Given the description of an element on the screen output the (x, y) to click on. 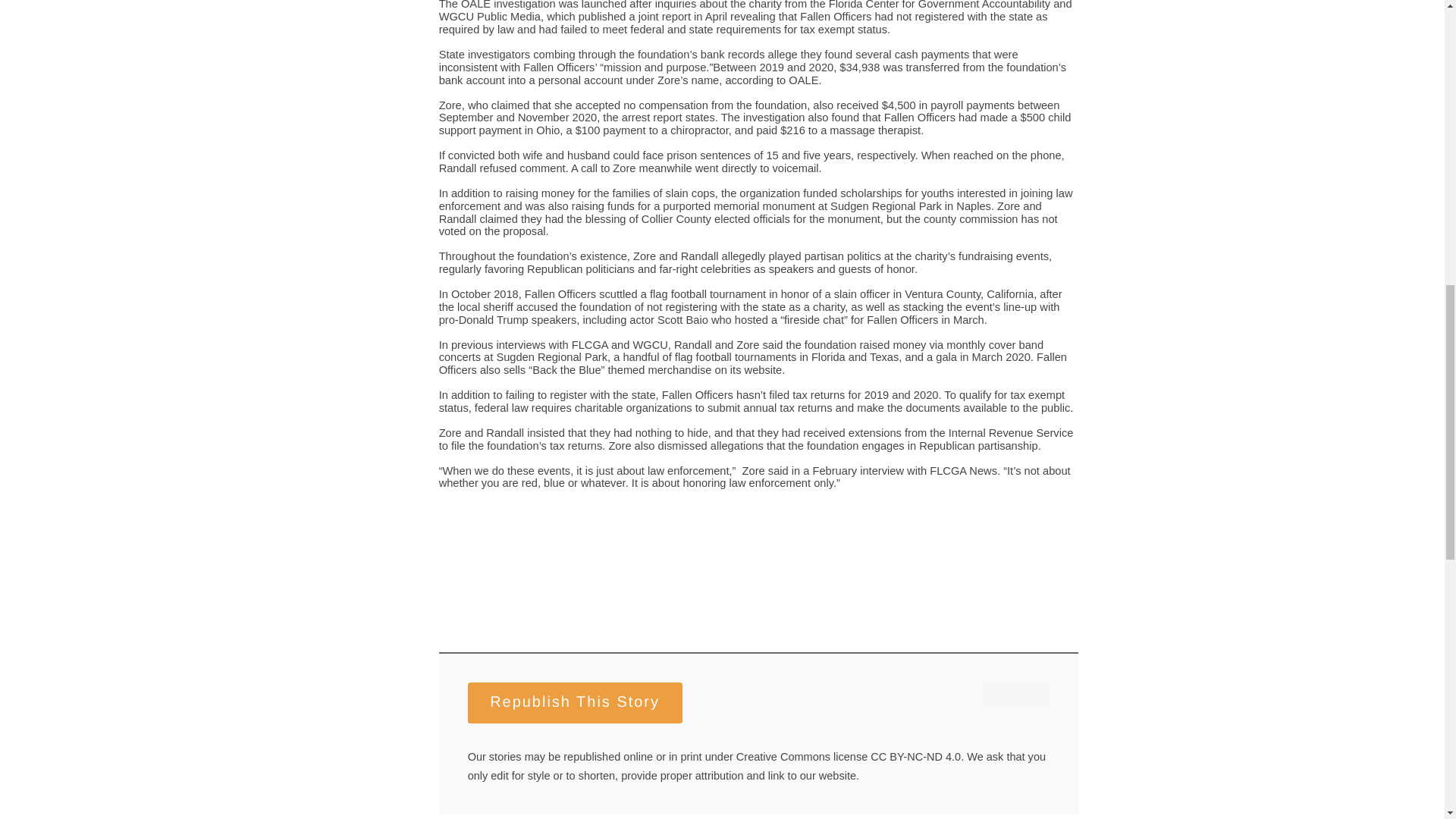
Republish This Story (574, 702)
